Given the description of an element on the screen output the (x, y) to click on. 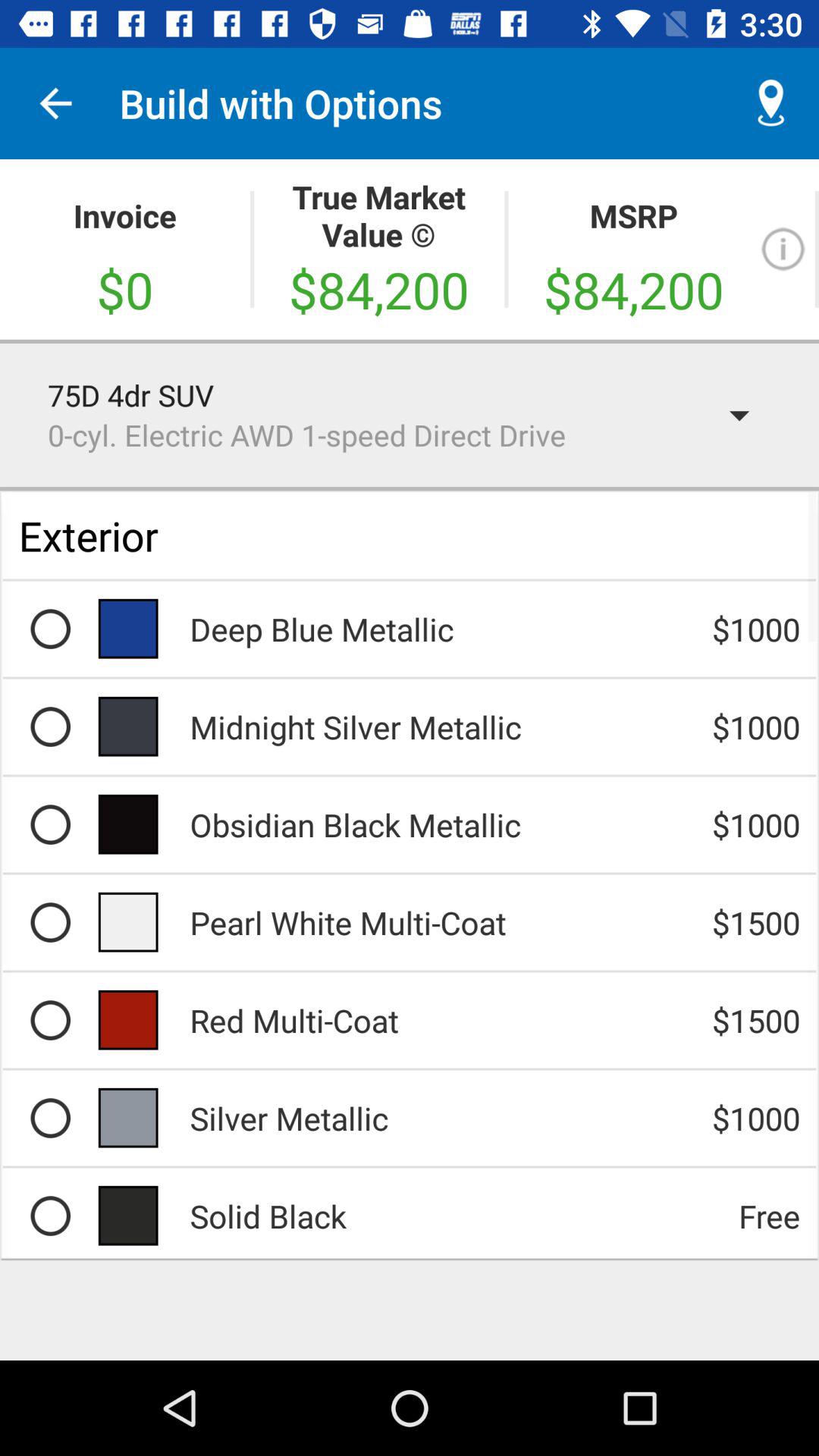
show pricing information (783, 249)
